Given the description of an element on the screen output the (x, y) to click on. 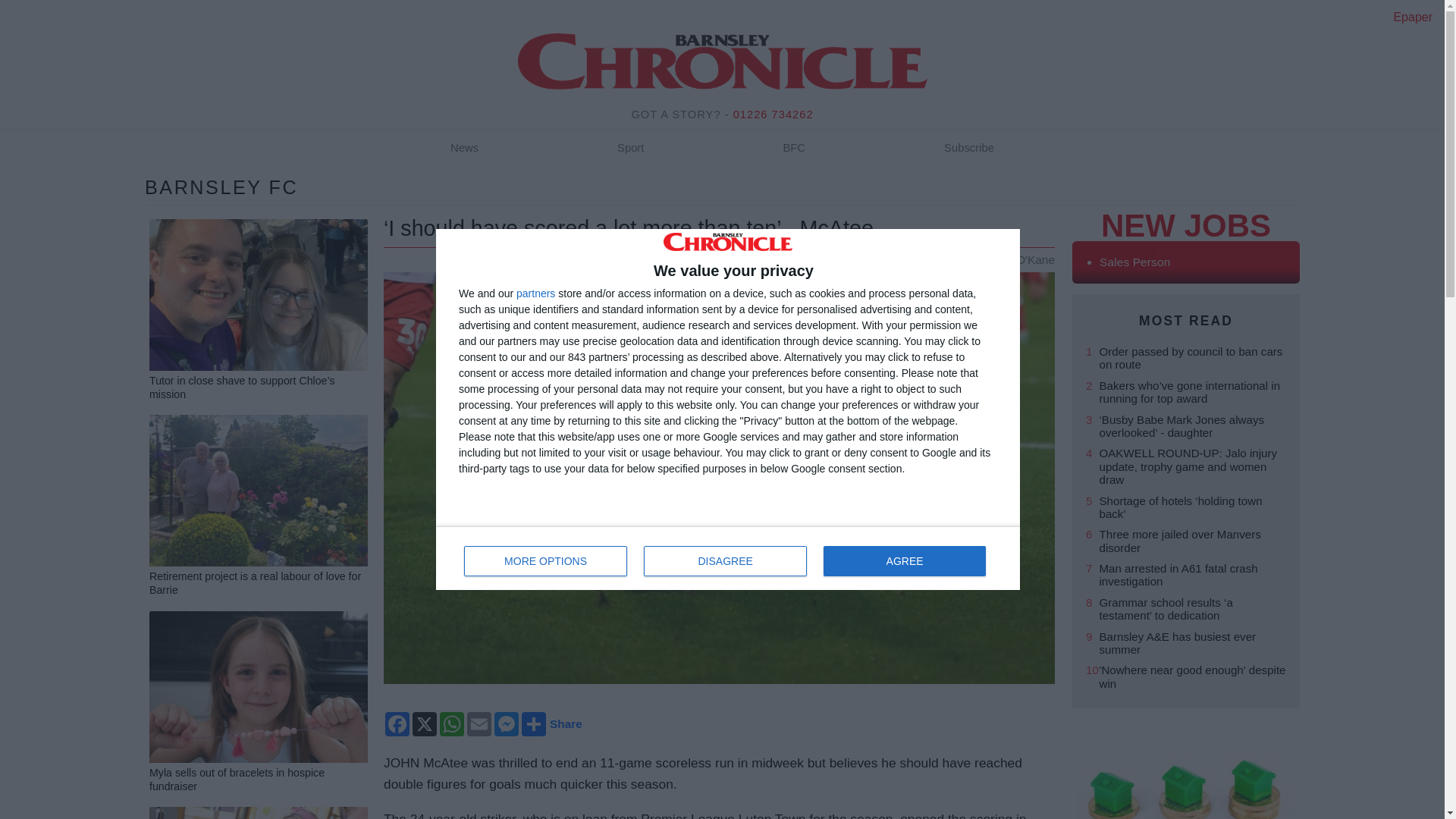
partners (535, 293)
News (464, 148)
AGREE (904, 561)
BFC (793, 148)
Subscribe (968, 148)
DISAGREE (724, 561)
01226 734262 (773, 114)
Epaper (1412, 16)
MORE OPTIONS (727, 557)
